Given the description of an element on the screen output the (x, y) to click on. 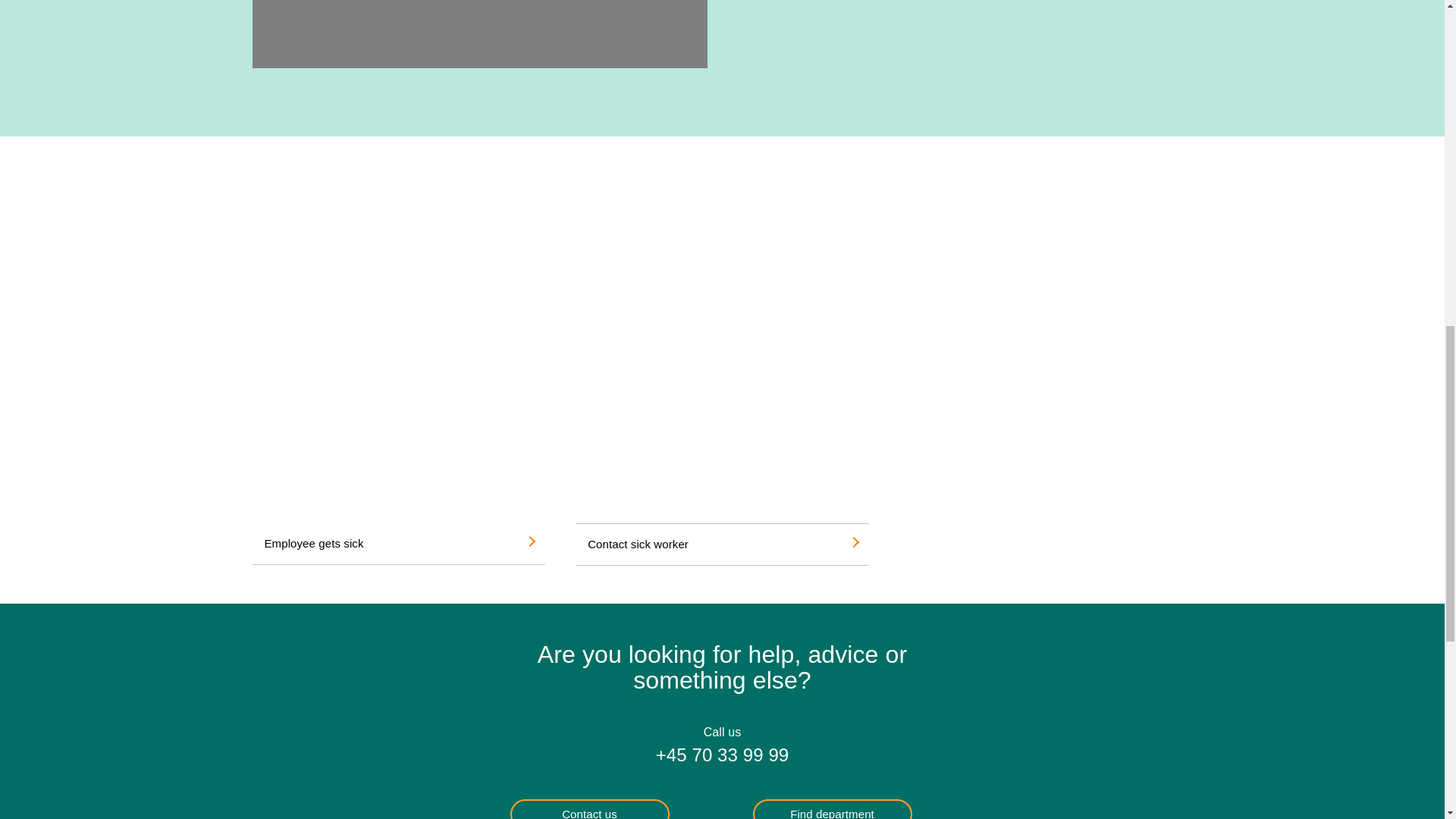
Contact us (588, 809)
Employee gets sick (397, 544)
Find department (831, 809)
Contact sick worker (722, 544)
